Given the description of an element on the screen output the (x, y) to click on. 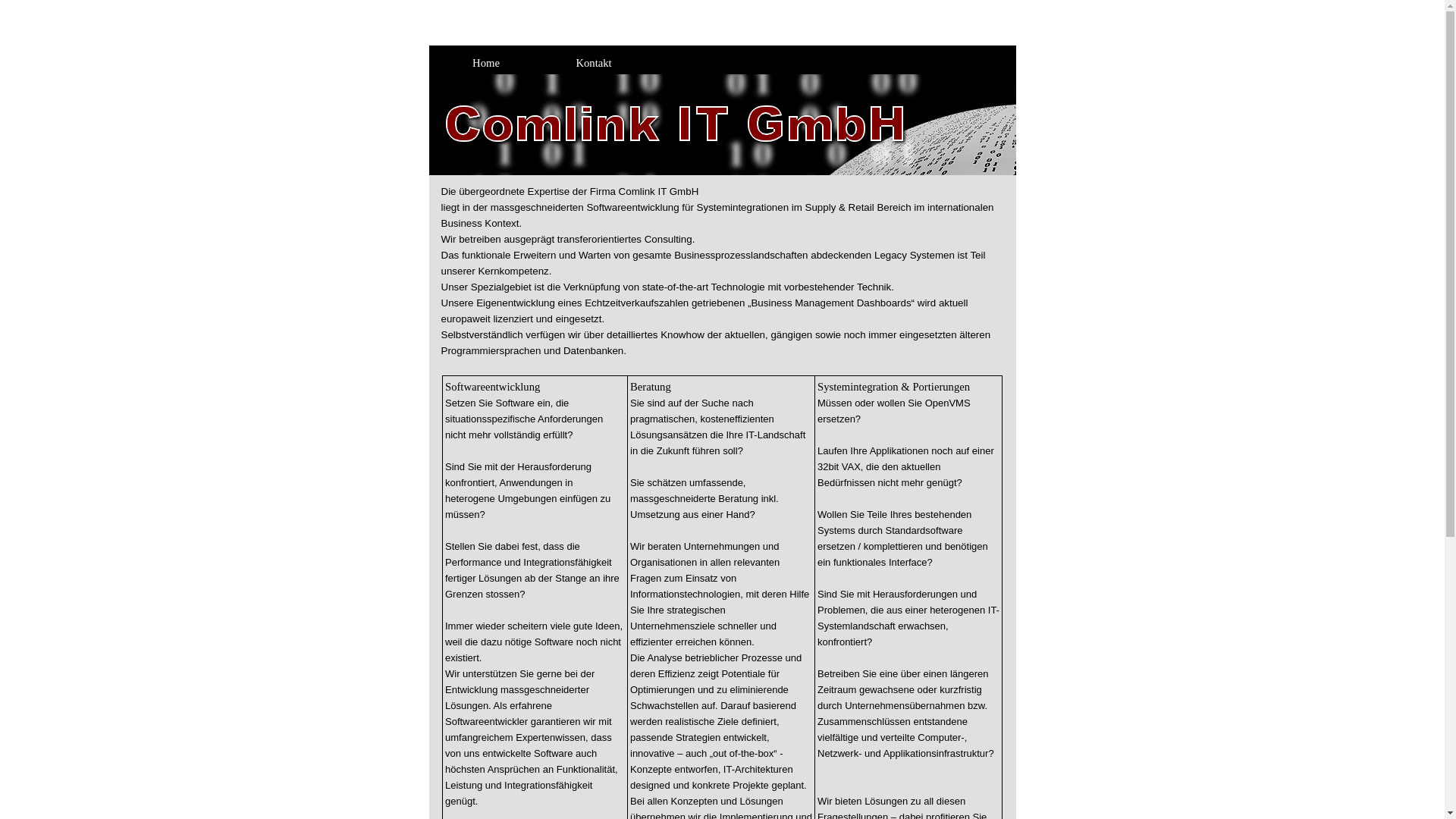
Home Element type: text (488, 62)
Kontakt Element type: text (595, 62)
